Given the description of an element on the screen output the (x, y) to click on. 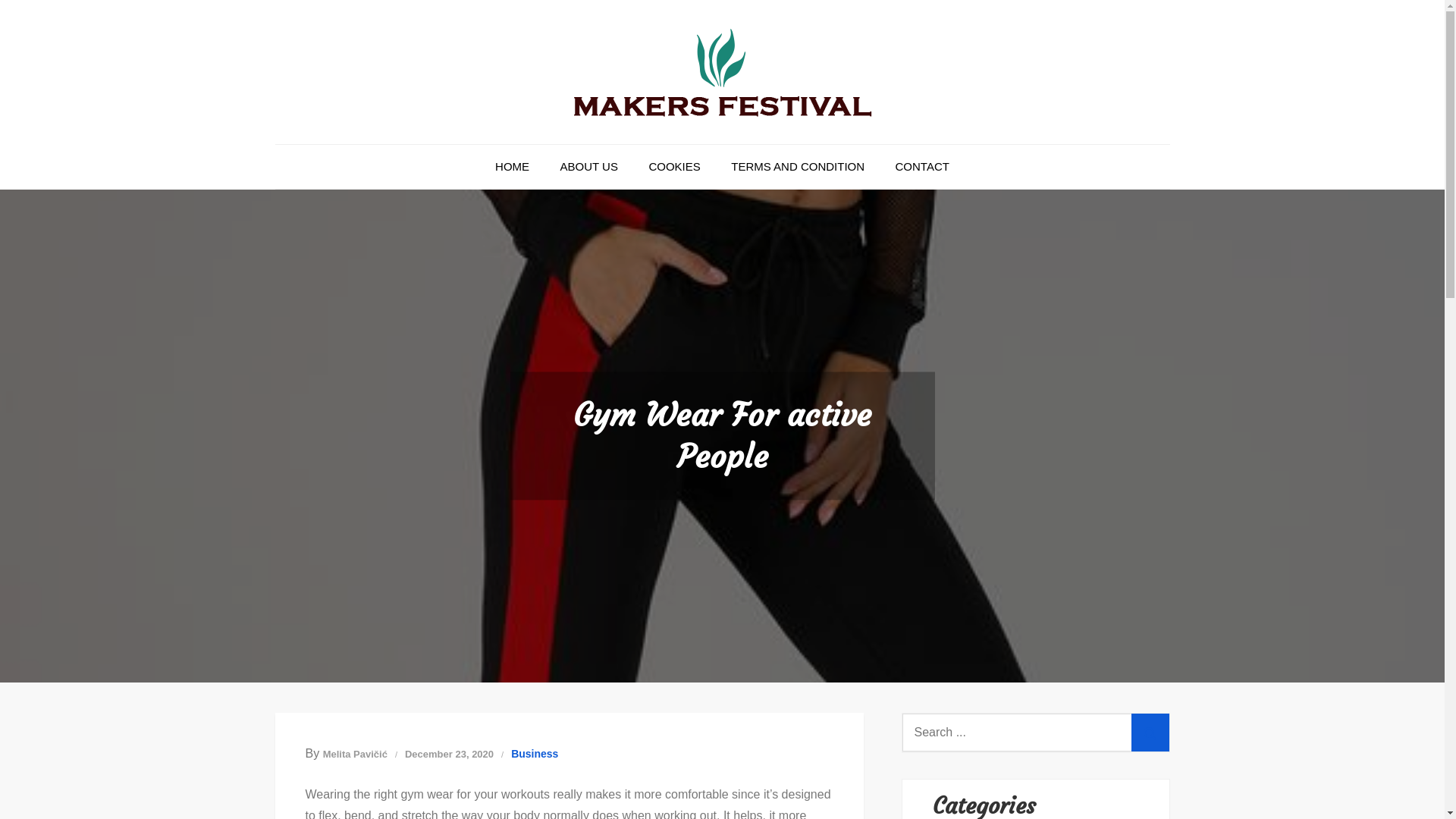
ABOUT US Element type: text (588, 166)
TERMS AND CONDITION Element type: text (797, 166)
Search for: Element type: hover (1035, 732)
CONTACT Element type: text (922, 166)
Business Element type: text (534, 753)
HOME Element type: text (511, 166)
Search Element type: text (1150, 732)
December 23, 2020 Element type: text (448, 753)
COOKIES Element type: text (673, 166)
Makers Festival Element type: text (610, 148)
